Given the description of an element on the screen output the (x, y) to click on. 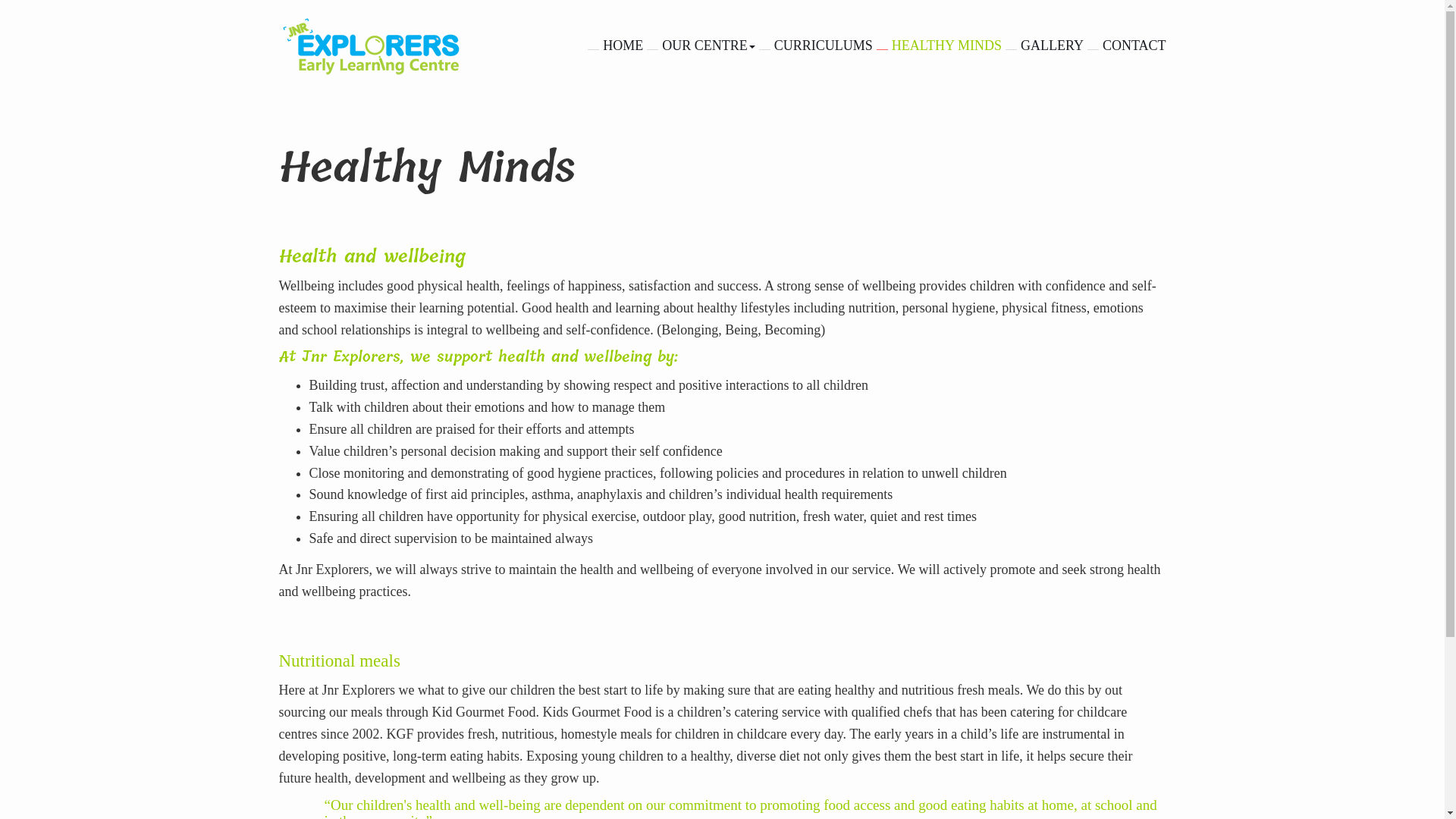
OUR CENTRE Element type: text (699, 45)
HOME Element type: text (613, 45)
GALLERY Element type: text (1042, 45)
CURRICULUMS Element type: text (813, 45)
Jnr Explorers Element type: hover (371, 48)
HEALTHY MINDS Element type: text (936, 45)
CONTACT Element type: text (1124, 45)
